Given the description of an element on the screen output the (x, y) to click on. 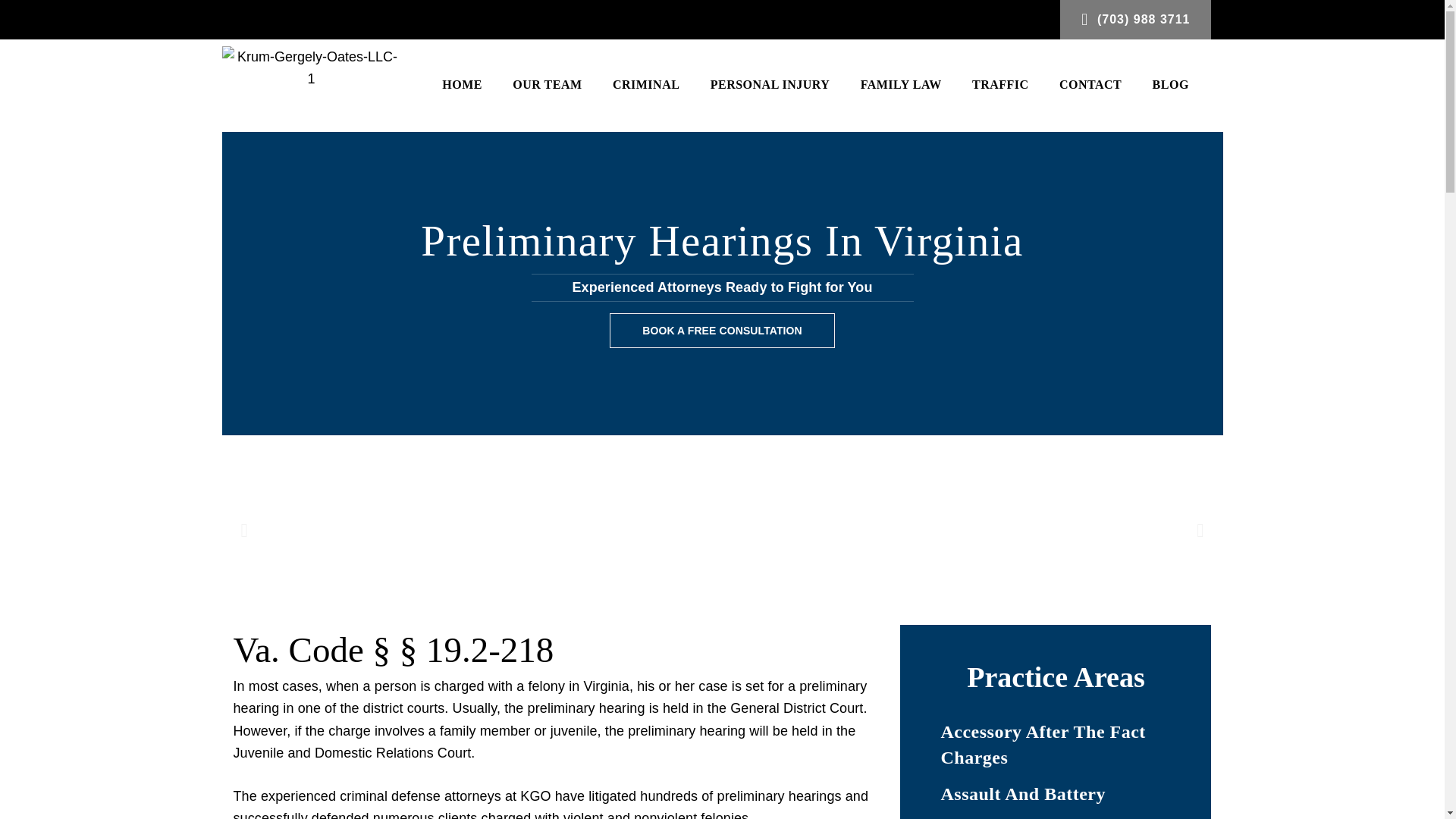
PERSONAL INJURY (770, 85)
FAMILY LAW (900, 85)
TRAFFIC (999, 85)
OUR TEAM (546, 85)
HOME (461, 85)
BLOG (1170, 85)
CONTACT (1090, 85)
CRIMINAL (645, 85)
